Given the description of an element on the screen output the (x, y) to click on. 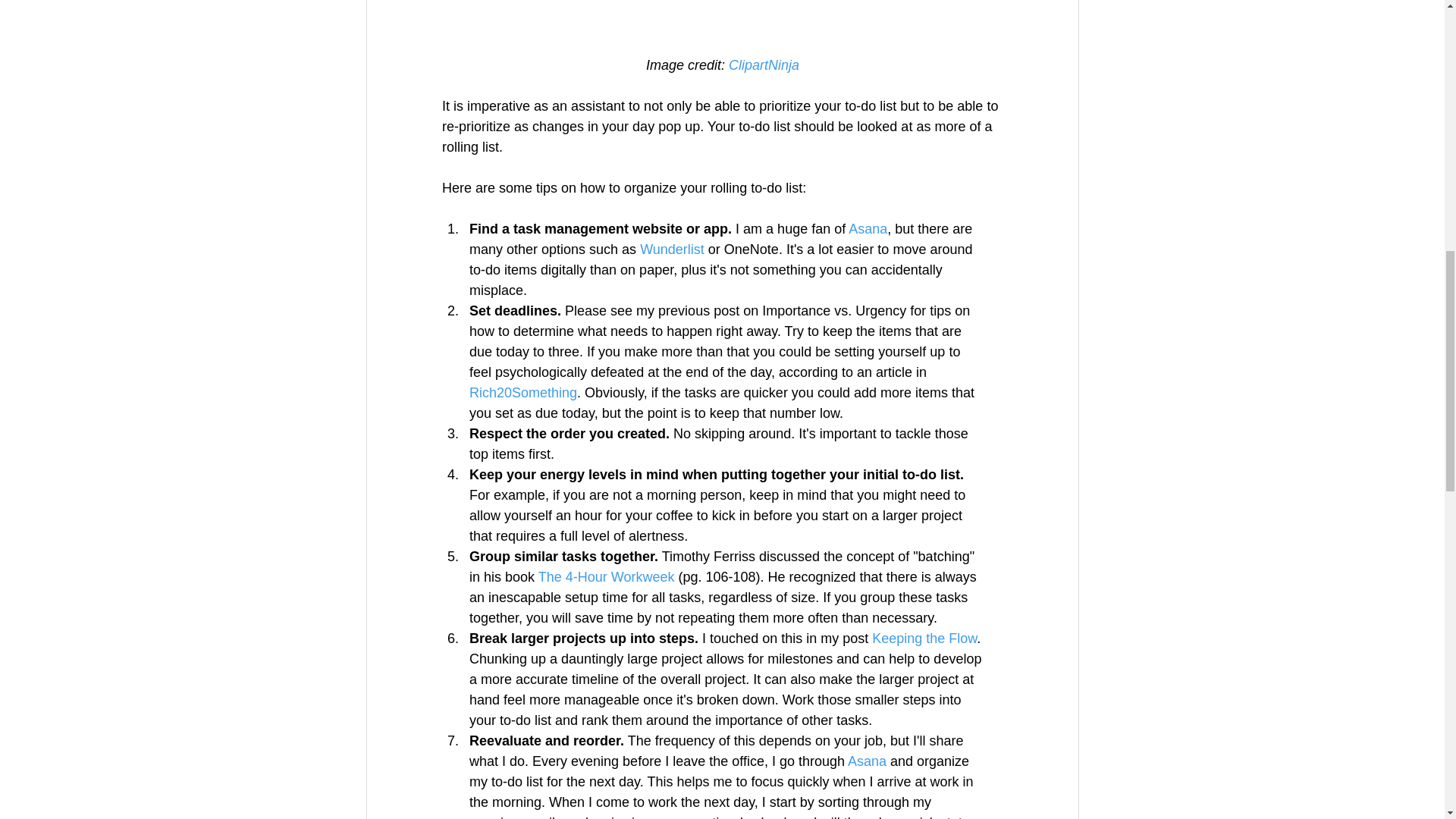
Asana (866, 761)
Asana (867, 228)
ClipartNinja (762, 64)
Rich20Something (522, 392)
Wunderlist (672, 249)
Keeping the Flow (924, 638)
The 4-Hour Workweek (605, 576)
